Given the description of an element on the screen output the (x, y) to click on. 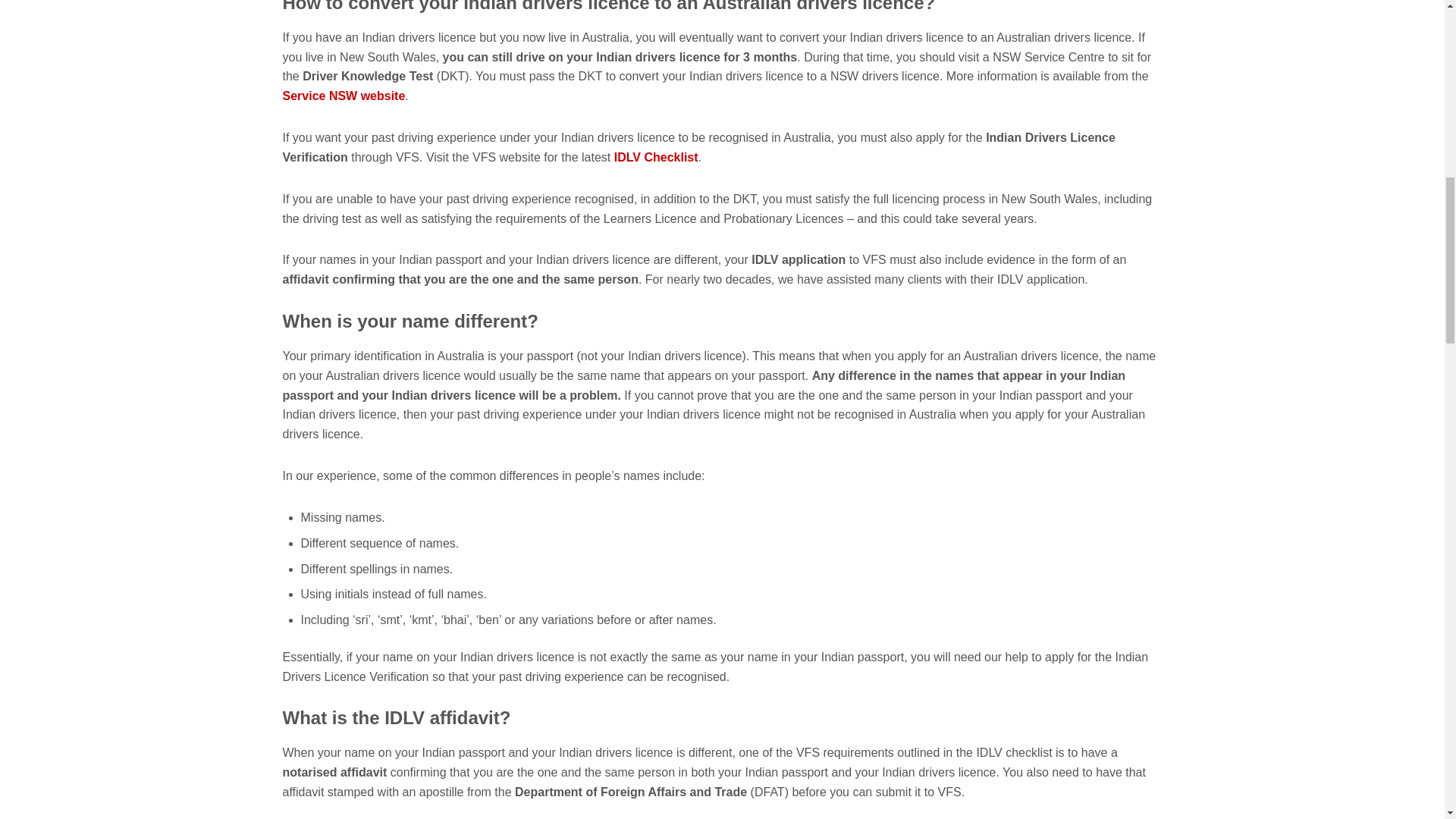
Service NSW website (343, 95)
IDLV Checklist available from VFS (656, 156)
IDLV Checklist (656, 156)
